Given the description of an element on the screen output the (x, y) to click on. 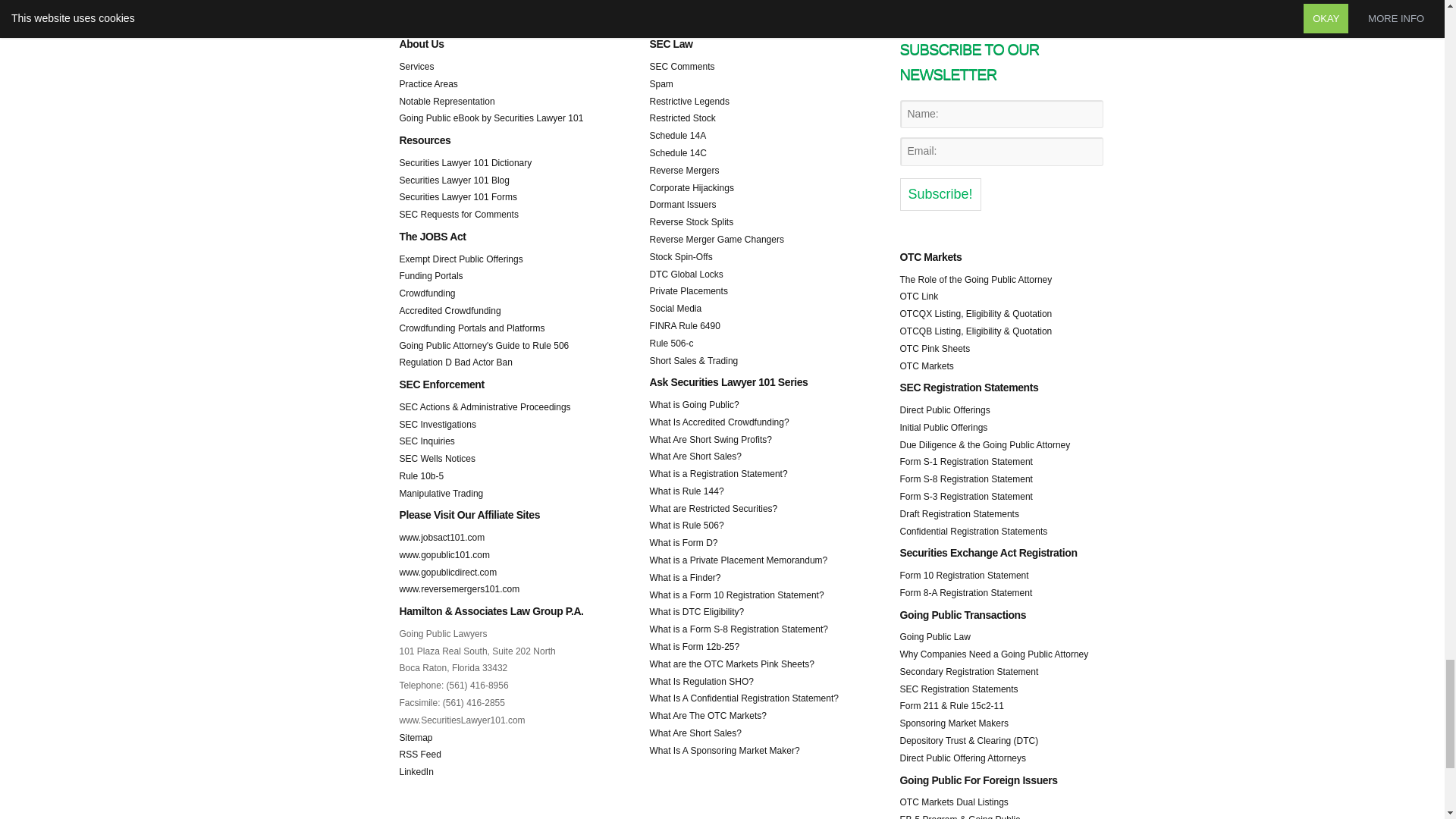
Subscribe! (939, 194)
